Given the description of an element on the screen output the (x, y) to click on. 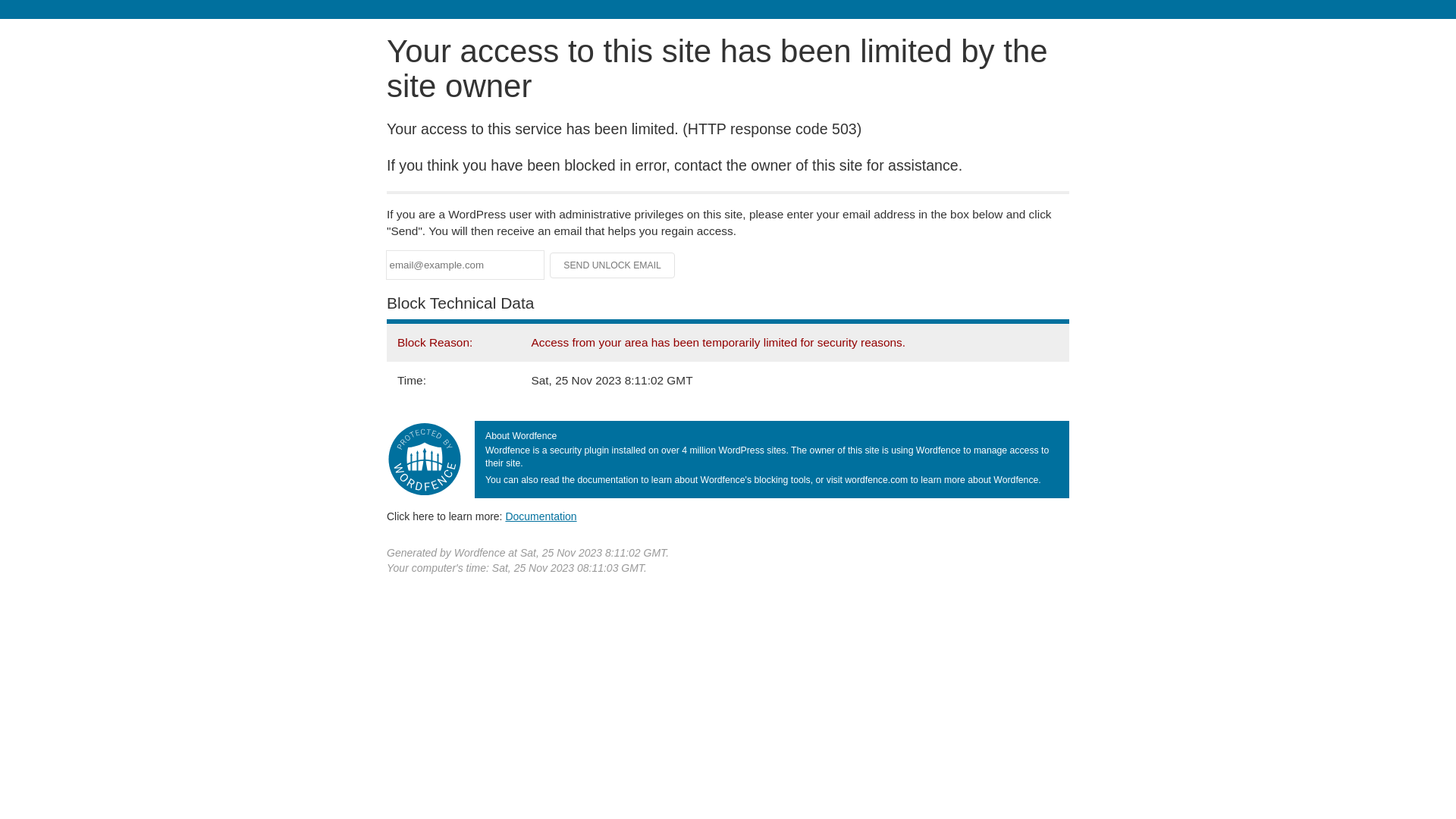
Documentation Element type: text (540, 516)
Send Unlock Email Element type: text (612, 265)
